Given the description of an element on the screen output the (x, y) to click on. 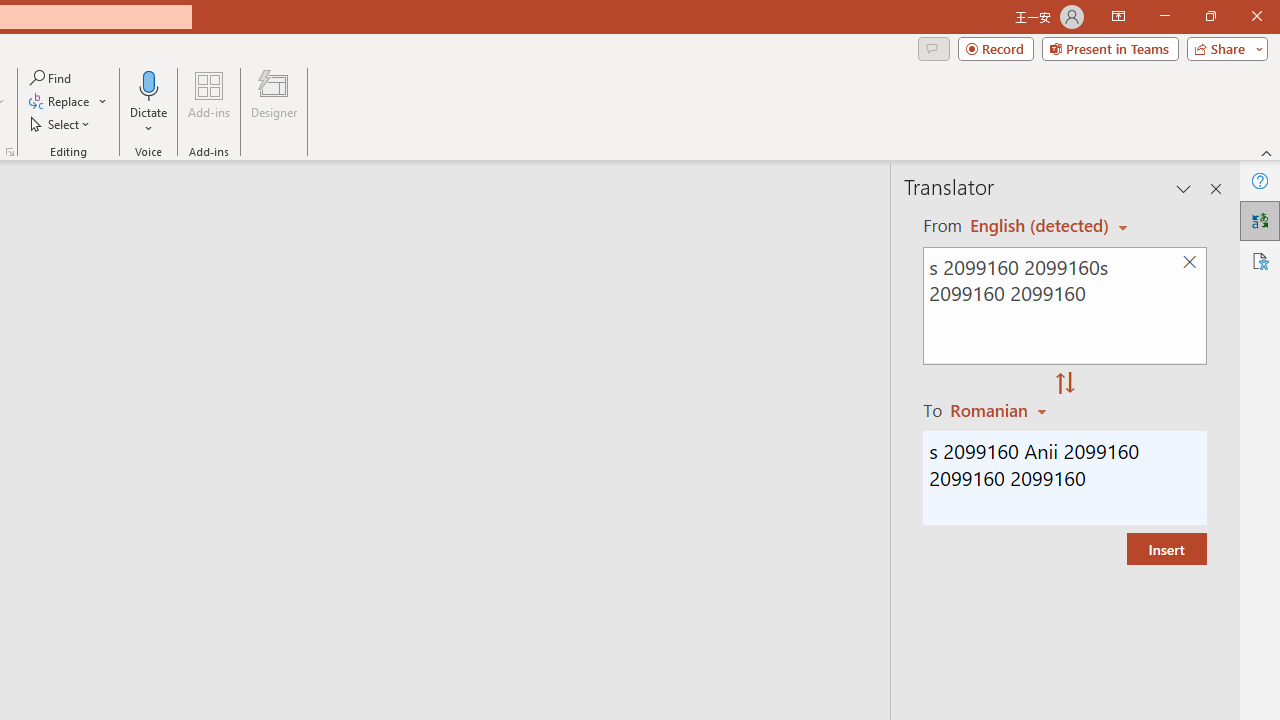
Czech (detected) (1039, 225)
Clear text (1189, 262)
